Given the description of an element on the screen output the (x, y) to click on. 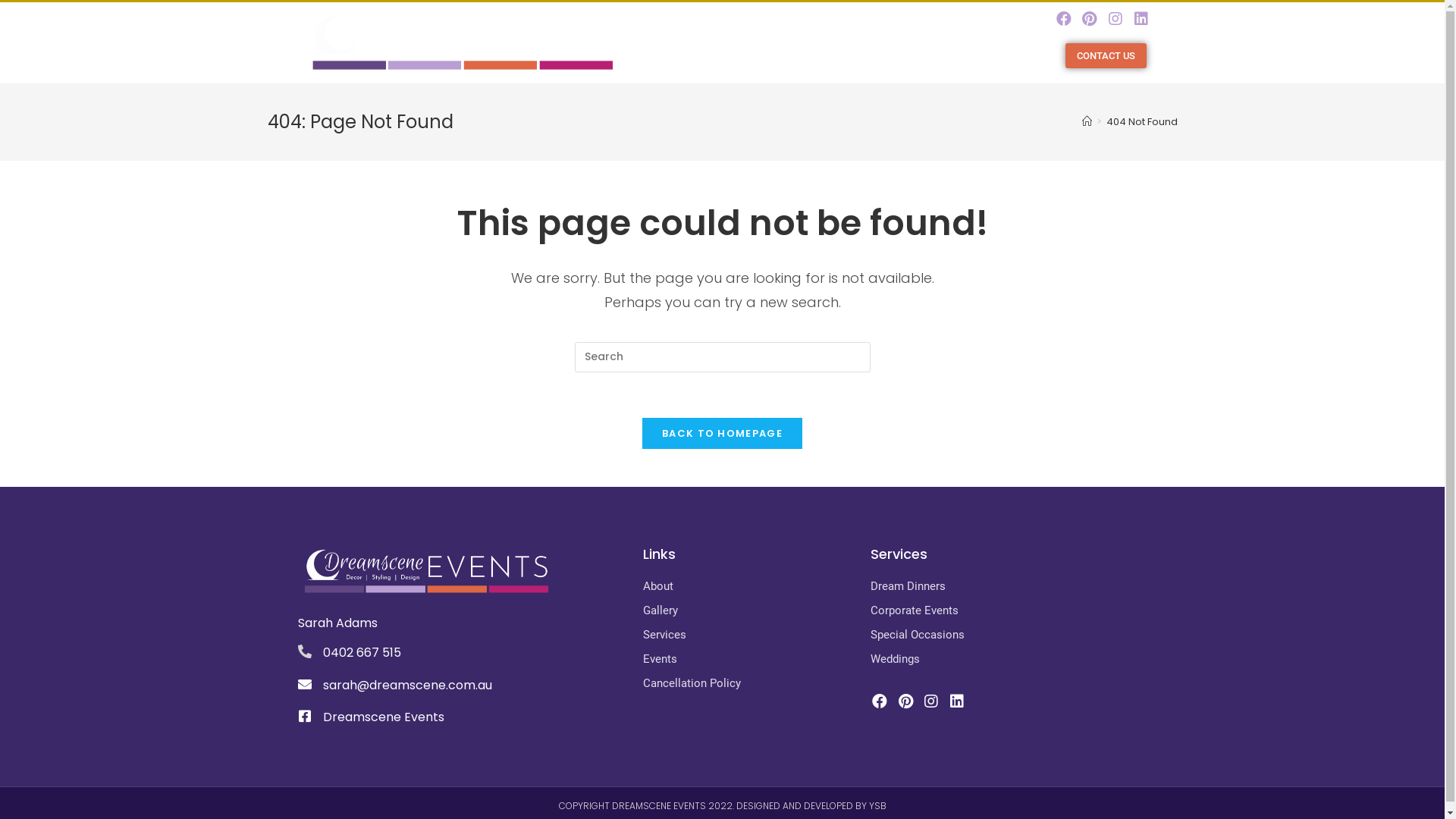
Cancellation Policy Element type: text (749, 683)
404 Not Found Element type: text (1140, 121)
SERVICES Element type: text (884, 55)
Special Occasions Element type: text (1006, 634)
BLOG Element type: text (1006, 55)
Services Element type: text (749, 634)
Events Element type: text (749, 659)
Corporate Events Element type: text (1006, 610)
Gallery Element type: text (749, 610)
GALLERY Element type: text (806, 55)
sarah@dreamscene.com.au Element type: text (407, 684)
0402 667 515 Element type: text (362, 652)
About Element type: text (749, 586)
HOME Element type: text (679, 55)
EVENTS Element type: text (950, 55)
ABOUT Element type: text (736, 55)
Weddings Element type: text (1006, 659)
Dreamscene Events Element type: text (383, 716)
Dream Dinners Element type: text (1006, 586)
CONTACT US Element type: text (1105, 55)
BACK TO HOMEPAGE Element type: text (722, 432)
